Given the description of an element on the screen output the (x, y) to click on. 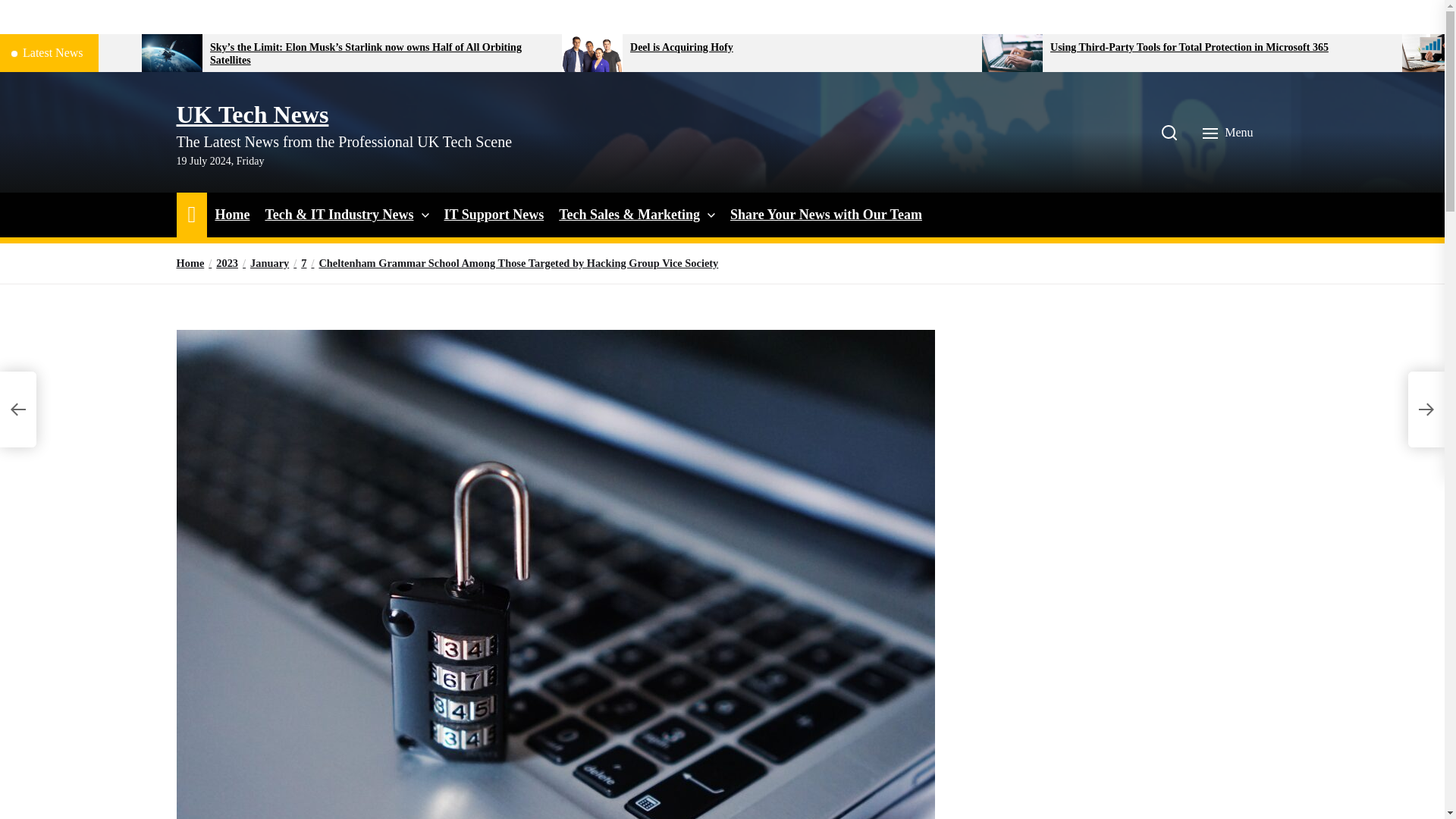
Deel is Acquiring Hofy (800, 47)
